Given the description of an element on the screen output the (x, y) to click on. 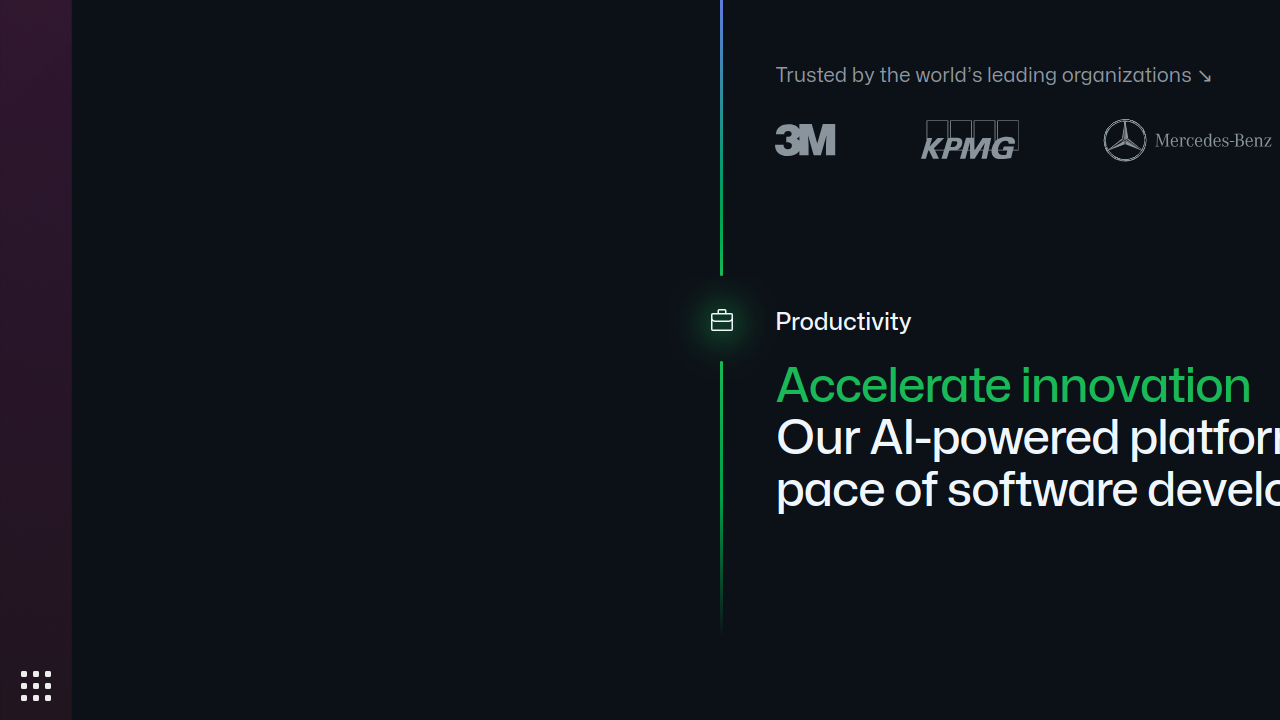
Show Applications Element type: toggle-button (36, 686)
